Given the description of an element on the screen output the (x, y) to click on. 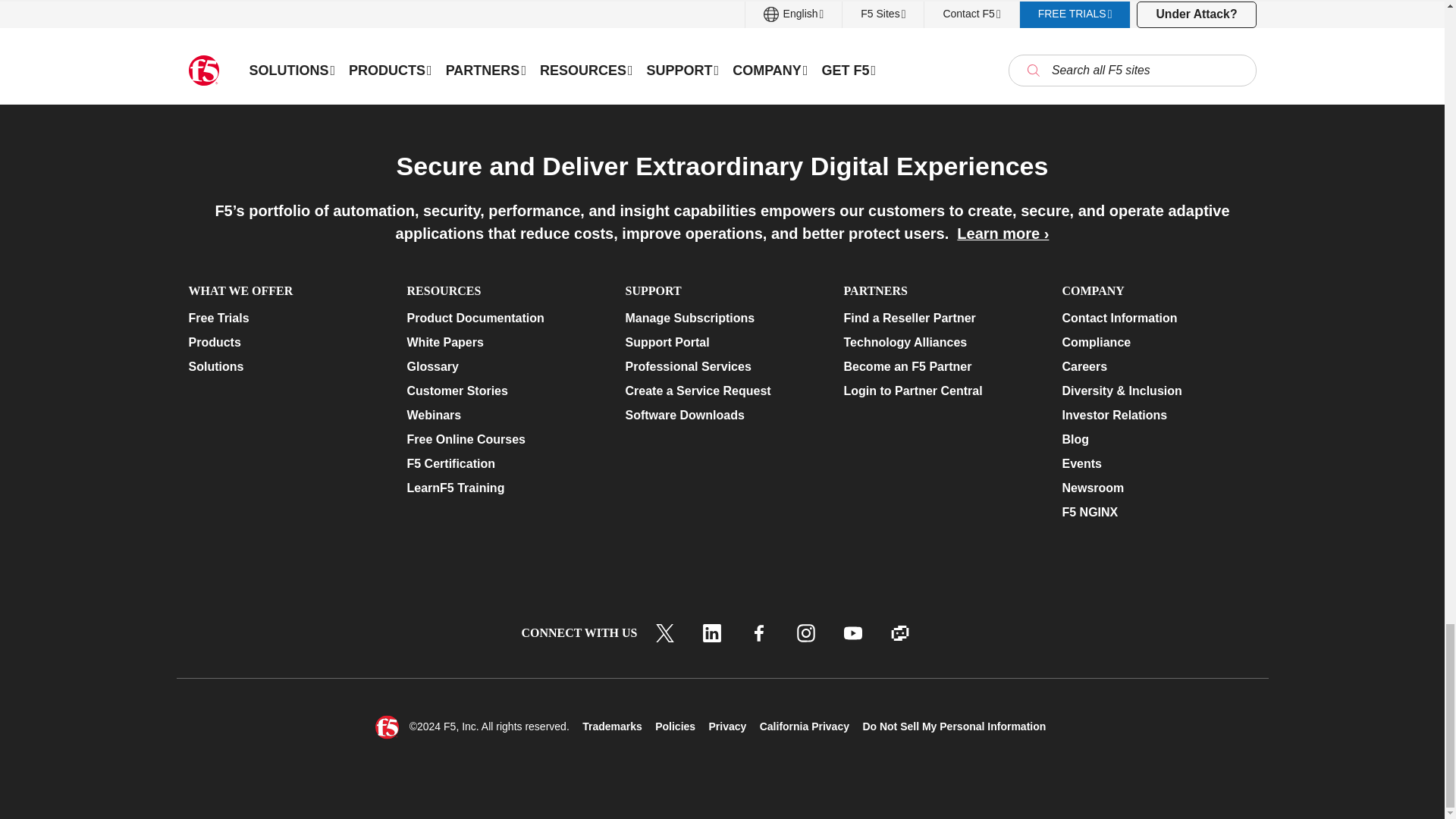
Free Trials (284, 318)
Product Documentation (502, 318)
White Papers (502, 342)
Products (284, 342)
Solutions (284, 366)
